Given the description of an element on the screen output the (x, y) to click on. 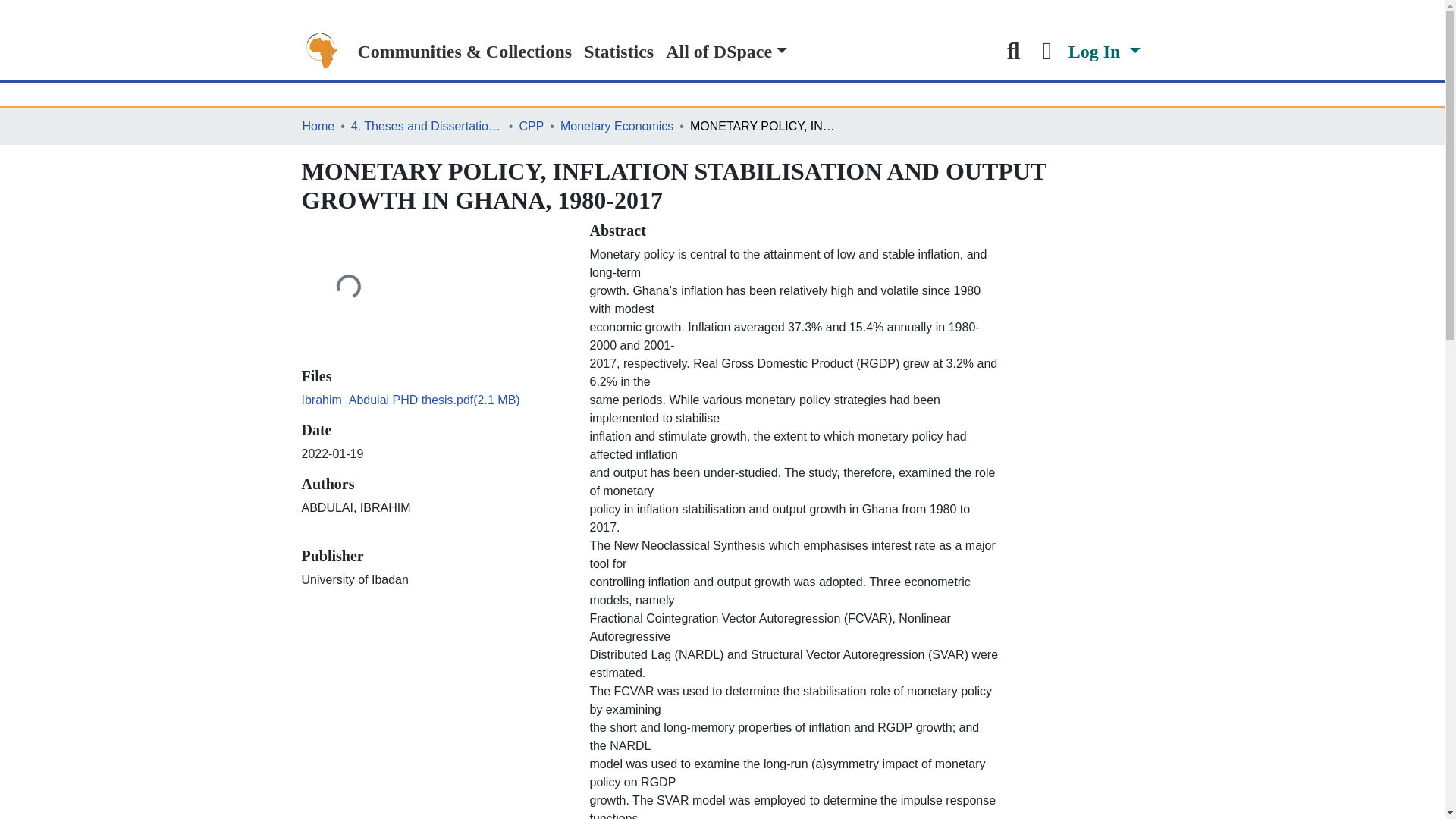
Search (1013, 51)
Log In (1103, 51)
4. Theses and Dissertations: (426, 126)
All of DSpace (726, 51)
Monetary Economics (616, 126)
Home (317, 126)
Statistics (618, 51)
Language switch (1047, 51)
CPP (530, 126)
Statistics (618, 51)
